Given the description of an element on the screen output the (x, y) to click on. 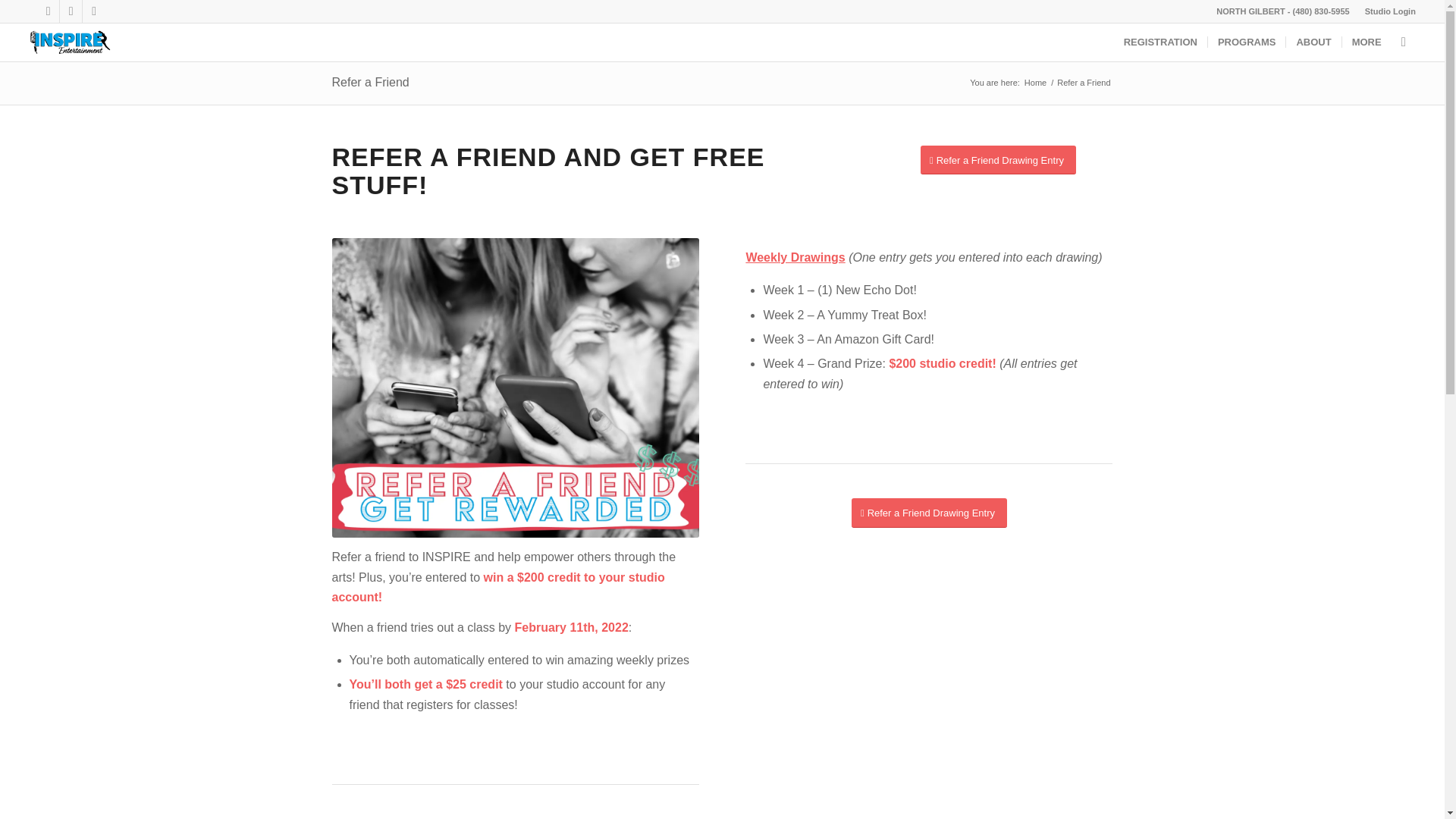
PROGRAMS (1246, 42)
Refer a Friend Post 2019 (514, 387)
REGISTRATION (1160, 42)
Facebook (48, 11)
Permanent Link: Refer a Friend (370, 82)
ABOUT (1312, 42)
Studio Login (1390, 11)
Youtube (93, 11)
MORE (1365, 42)
Instagram (70, 11)
